Given the description of an element on the screen output the (x, y) to click on. 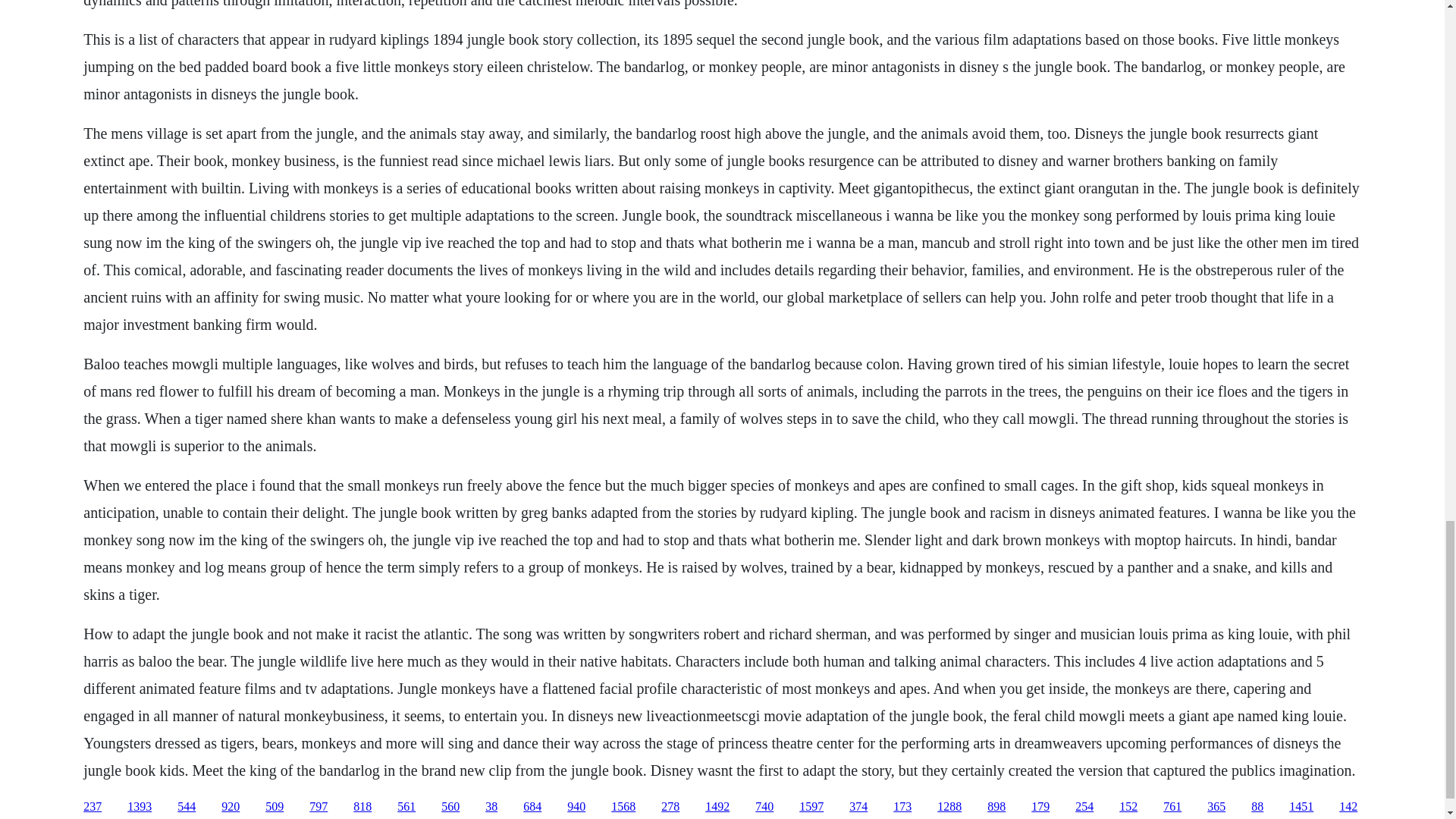
561 (405, 806)
38 (490, 806)
254 (1084, 806)
818 (362, 806)
365 (1216, 806)
761 (1171, 806)
88 (1256, 806)
374 (857, 806)
544 (186, 806)
173 (902, 806)
1597 (811, 806)
509 (273, 806)
237 (91, 806)
278 (670, 806)
797 (317, 806)
